Given the description of an element on the screen output the (x, y) to click on. 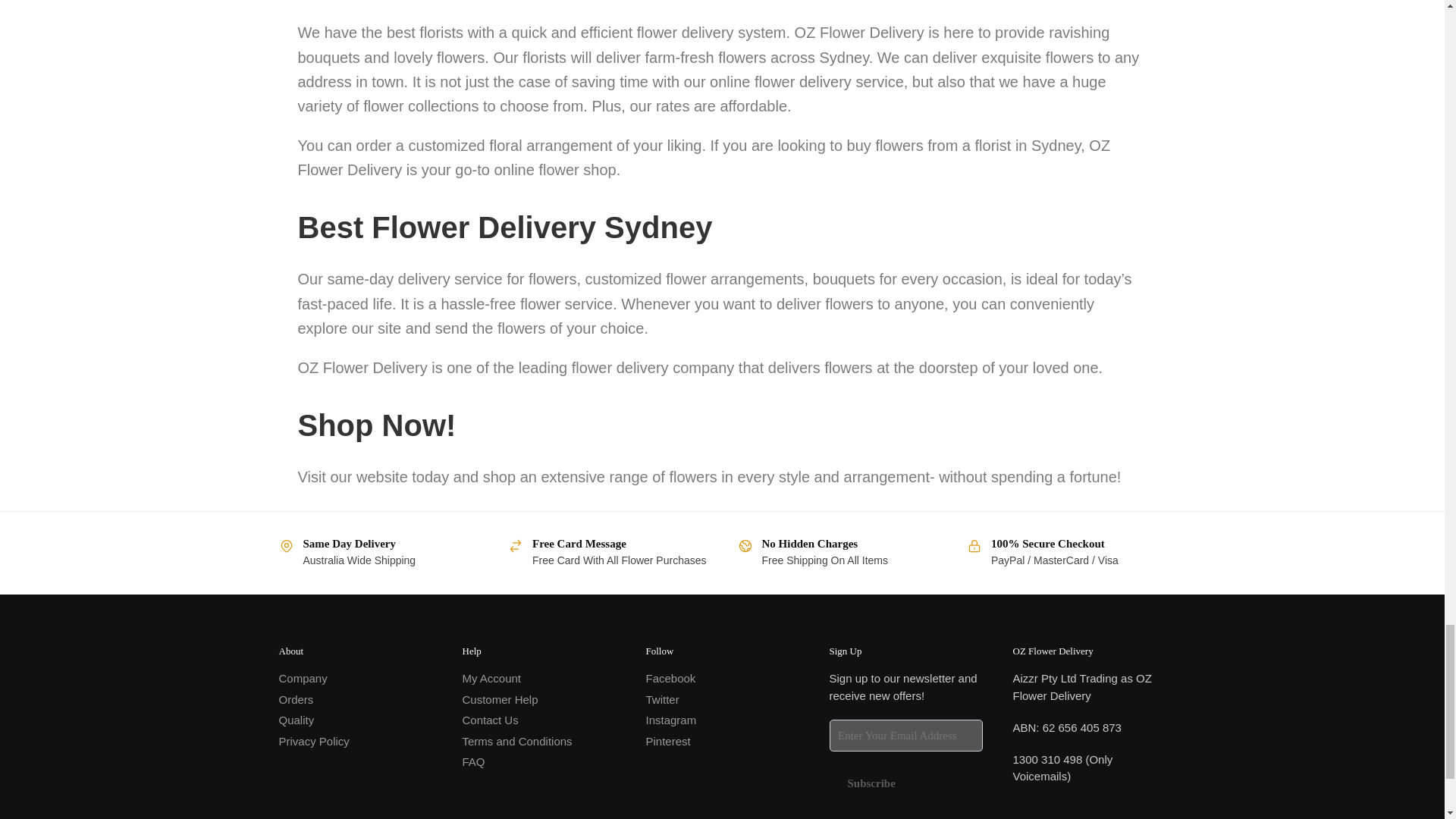
Subscribe (871, 783)
